Given the description of an element on the screen output the (x, y) to click on. 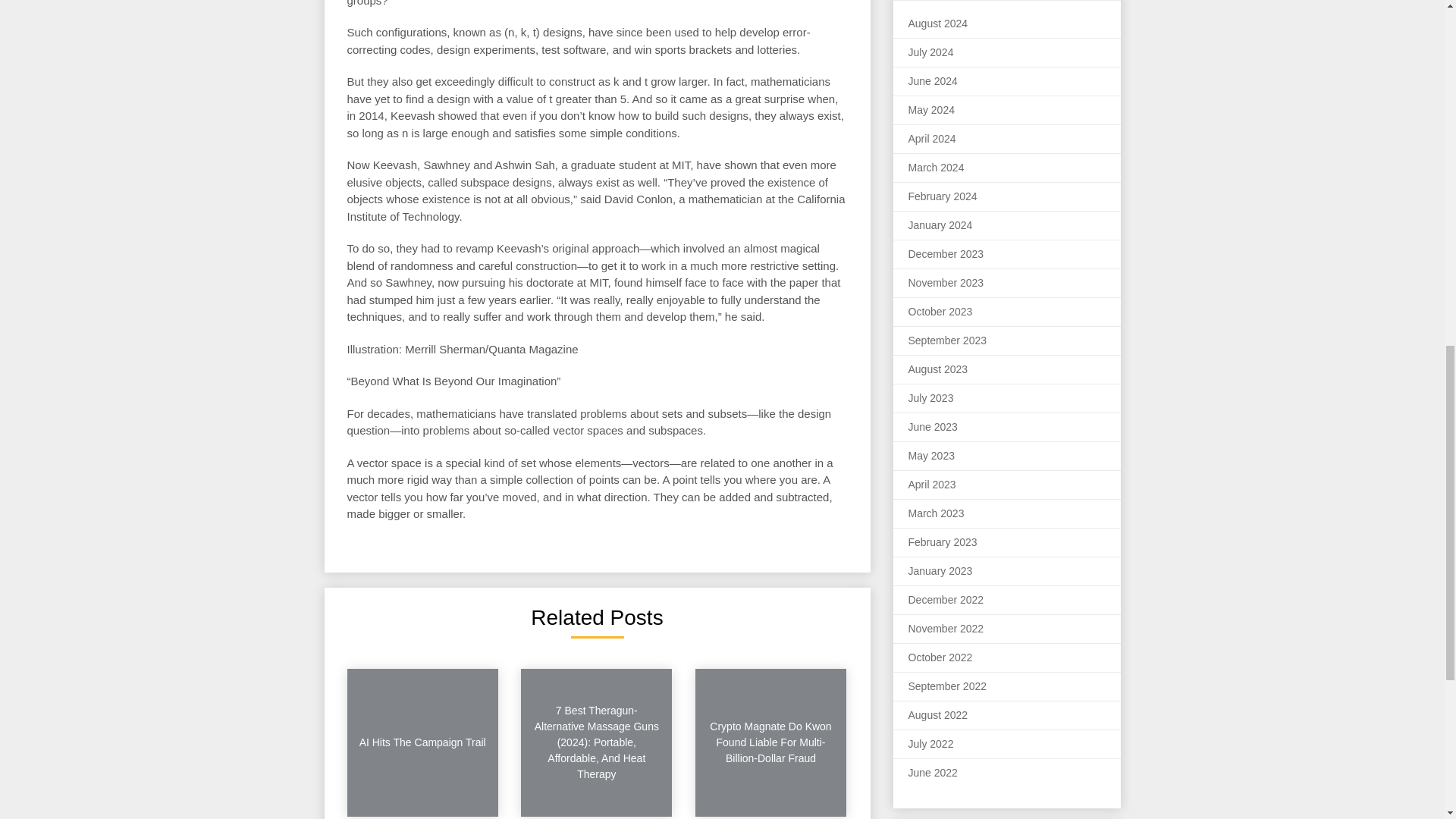
October 2023 (940, 311)
January 2023 (940, 571)
June 2023 (933, 426)
December 2022 (946, 599)
April 2024 (932, 138)
August 2022 (938, 715)
August 2023 (938, 369)
November 2023 (946, 282)
March 2023 (935, 512)
August 2024 (938, 23)
June 2024 (933, 80)
April 2023 (932, 484)
November 2022 (946, 628)
July 2022 (930, 743)
September 2022 (947, 686)
